Given the description of an element on the screen output the (x, y) to click on. 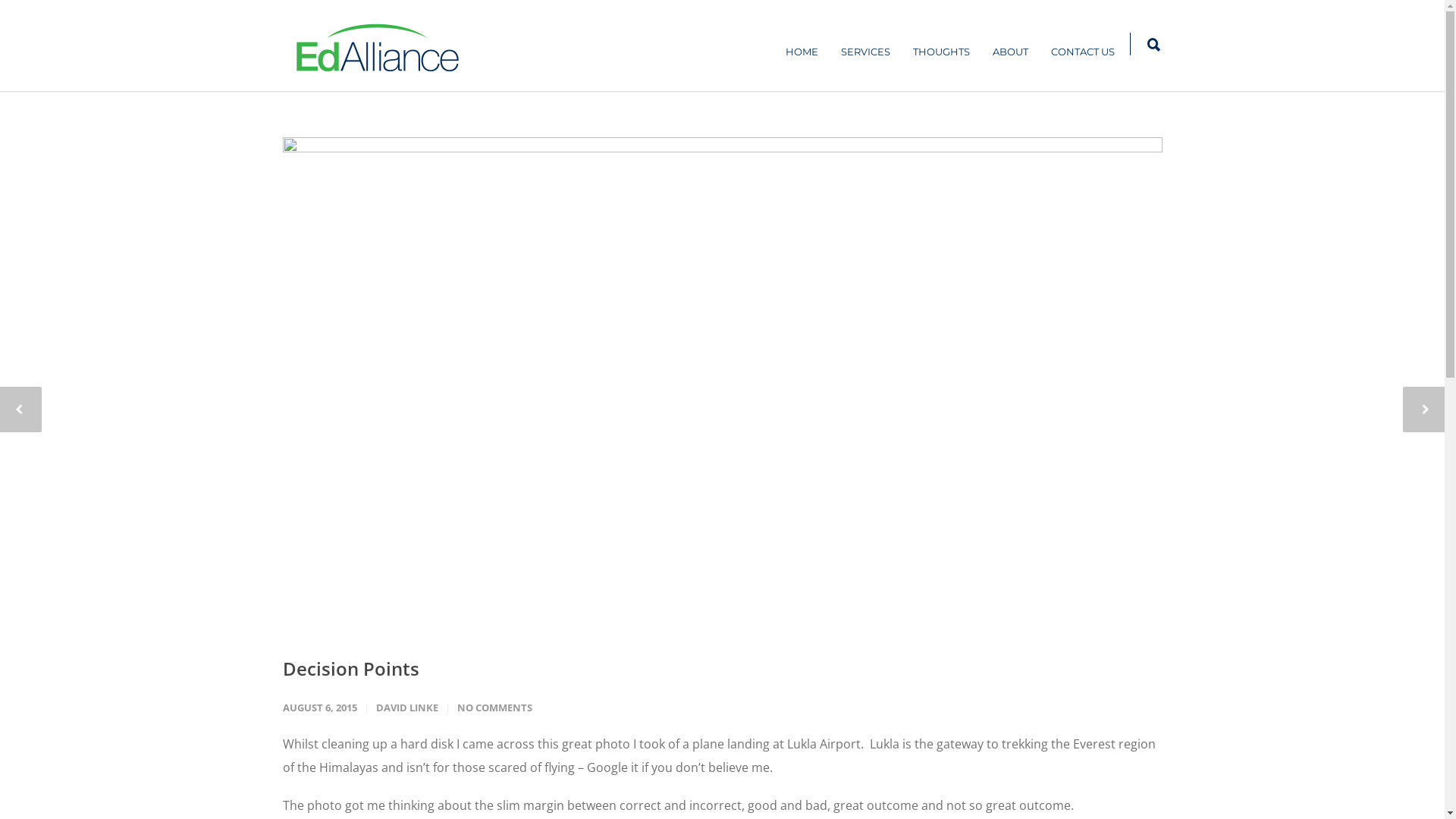
SERVICES Element type: text (865, 51)
Decision Points Element type: text (350, 667)
CONTACT US Element type: text (1081, 51)
DAVID LINKE Element type: text (407, 707)
THOUGHTS Element type: text (940, 51)
HOME Element type: text (800, 51)
NO COMMENTS Element type: text (493, 707)
ABOUT Element type: text (1010, 51)
Decision Points Element type: hover (721, 383)
